Given the description of an element on the screen output the (x, y) to click on. 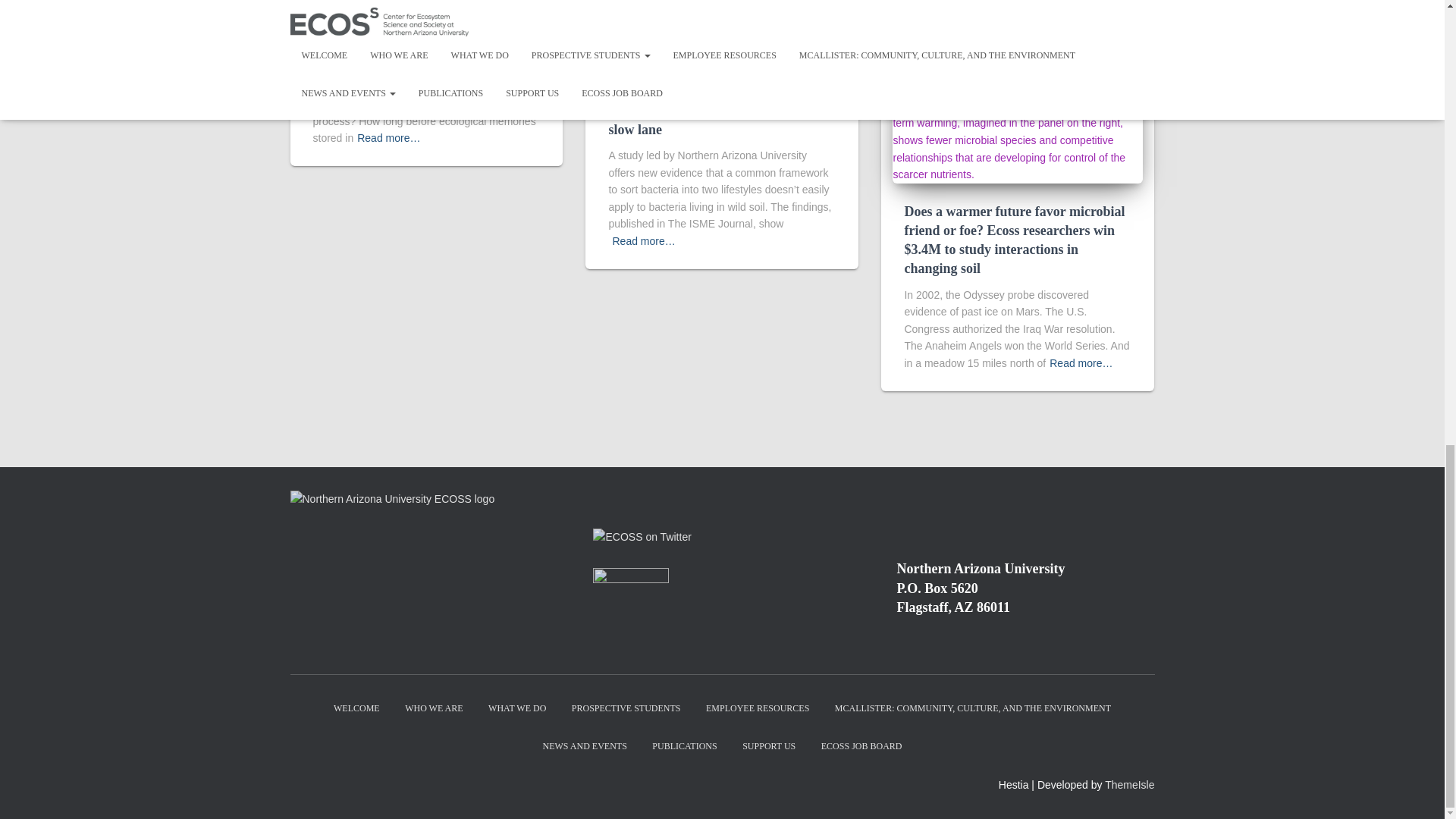
WHO WE ARE (433, 708)
PUBLICATIONS (684, 746)
NEWS AND EVENTS (585, 746)
WHAT WE DO (517, 708)
MCALLISTER: COMMUNITY, CULTURE, AND THE ENVIRONMENT (973, 708)
EMPLOYEE RESOURCES (757, 708)
PROSPECTIVE STUDENTS (626, 708)
WELCOME (356, 708)
